Given the description of an element on the screen output the (x, y) to click on. 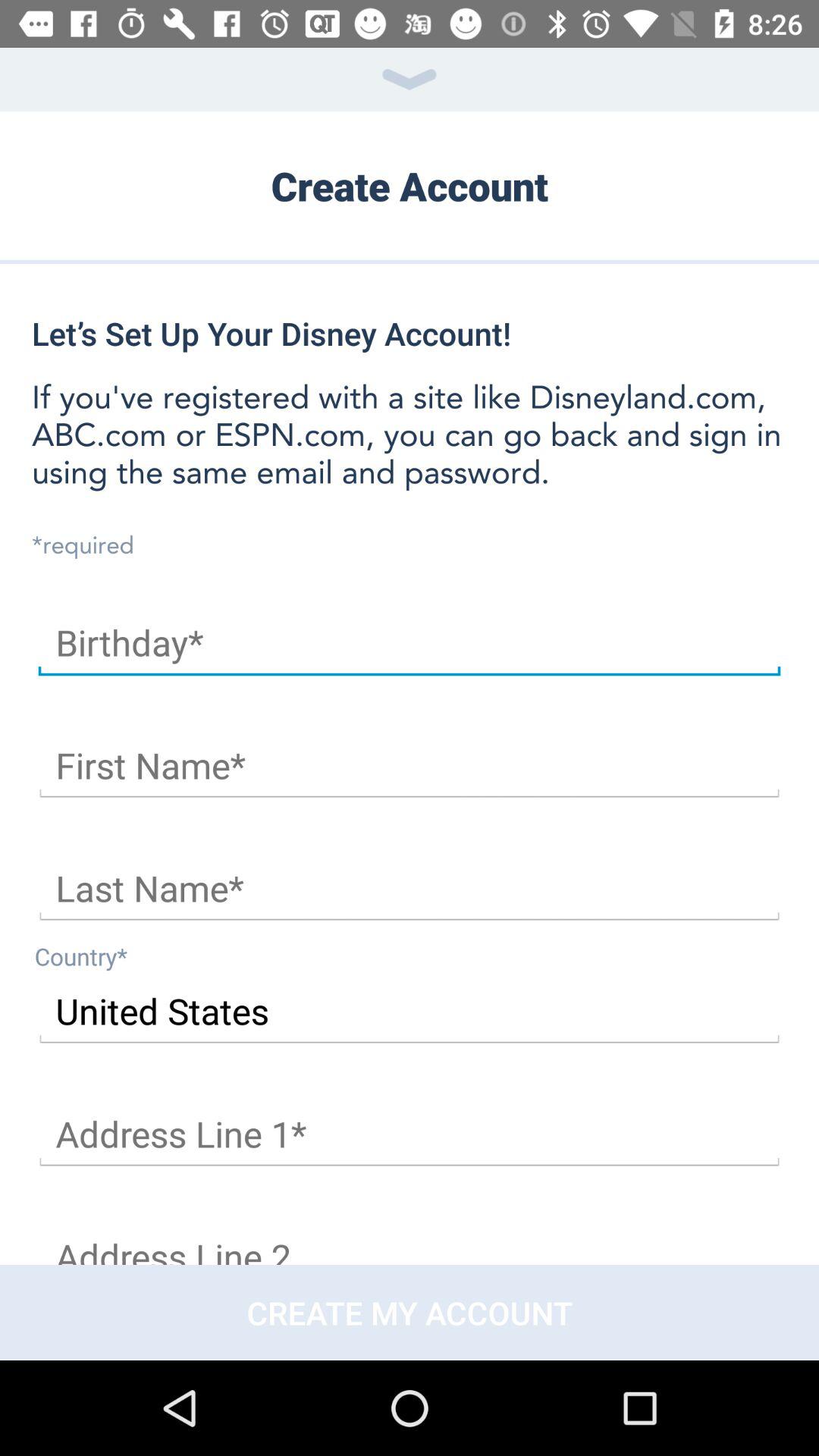
enter your address (409, 1134)
